Given the description of an element on the screen output the (x, y) to click on. 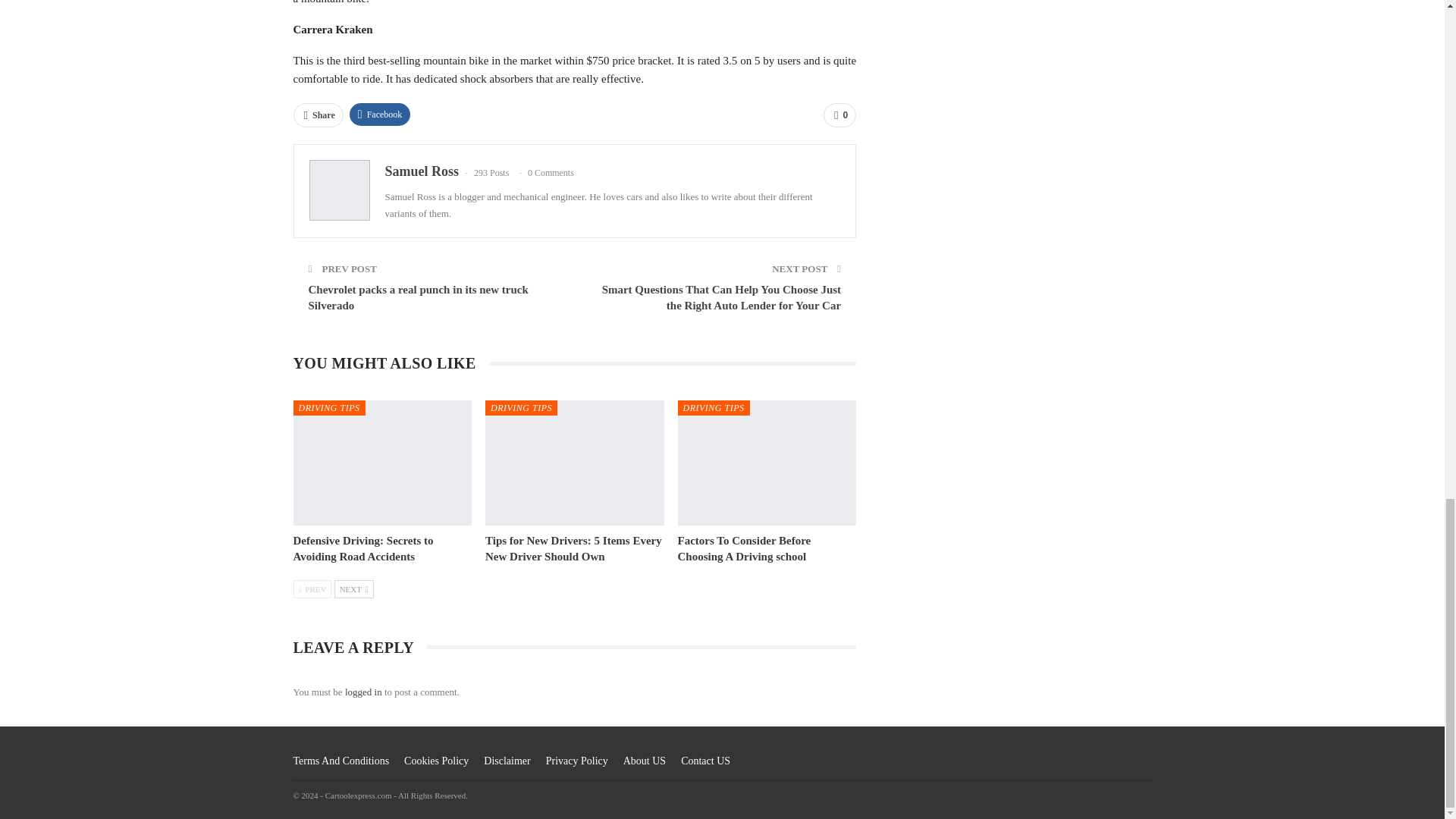
0 (840, 115)
Previous (311, 588)
Facebook (379, 114)
Samuel Ross (422, 171)
YOU MIGHT ALSO LIKE (389, 364)
Factors To Consider Before Choosing A Driving school (744, 548)
Tips for New Drivers: 5 Items Every New Driver Should Own (573, 548)
Factors To Consider Before Choosing A Driving school (767, 462)
Chevrolet packs a real punch in its new truck Silverado (417, 297)
Defensive Driving: Secrets to Avoiding Road Accidents (381, 462)
Defensive Driving: Secrets to Avoiding Road Accidents (362, 548)
Defensive Driving: Secrets to Avoiding Road Accidents (362, 548)
DRIVING TIPS (520, 407)
Tips for New Drivers: 5 Items Every New Driver Should Own (573, 462)
